Given the description of an element on the screen output the (x, y) to click on. 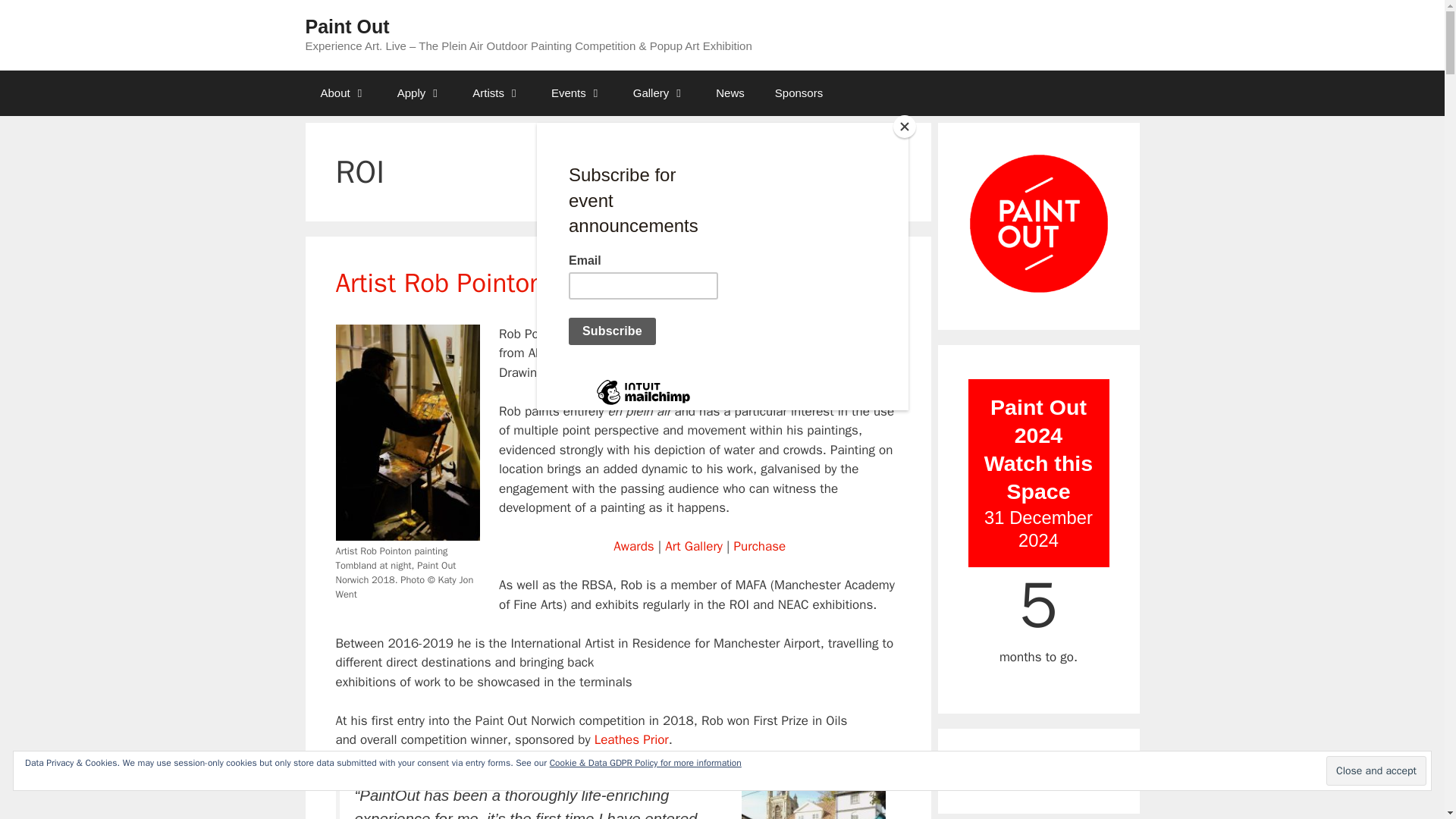
Paint Out (346, 25)
Apply (419, 92)
Artist profiles, biographies and CVs, examples of their work (496, 92)
About (342, 92)
Artists (496, 92)
